Given the description of an element on the screen output the (x, y) to click on. 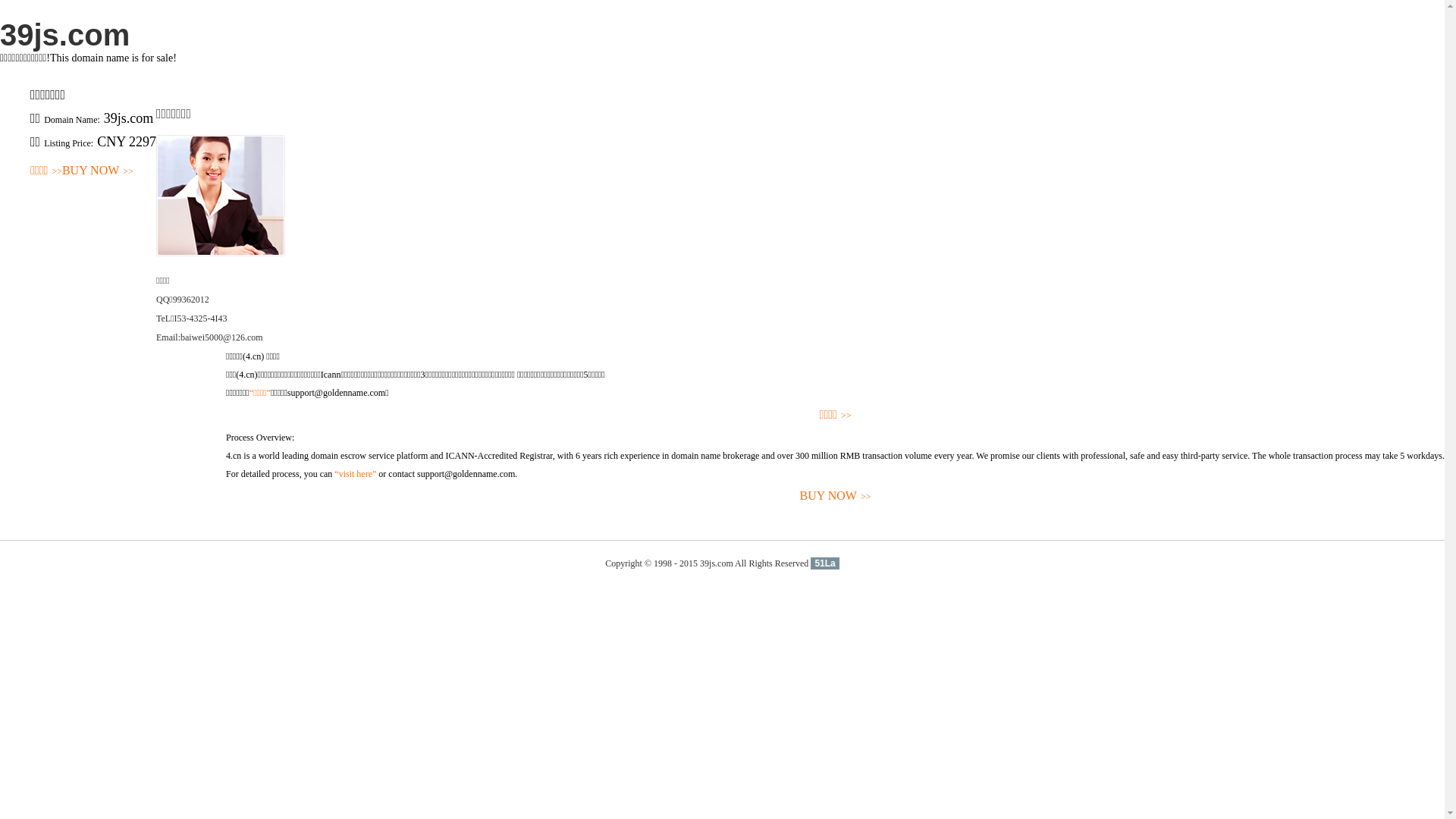
BUY NOW>> Element type: text (834, 496)
51La Element type: text (824, 563)
BUY NOW>> Element type: text (97, 170)
